Given the description of an element on the screen output the (x, y) to click on. 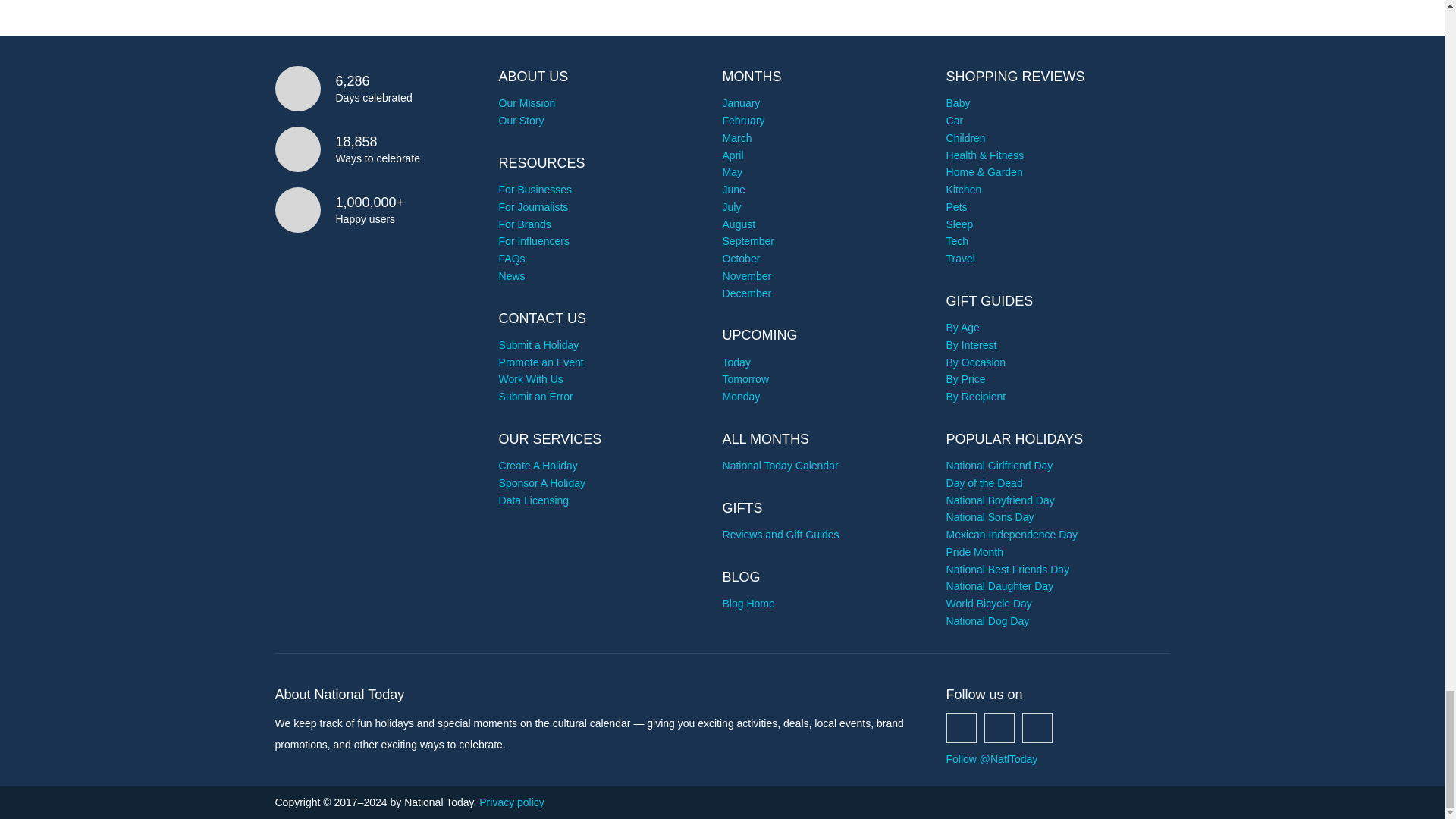
Follow us on Instagram (1037, 727)
Follow us on Twitter (999, 727)
Follow us on Facebook (961, 727)
